Given the description of an element on the screen output the (x, y) to click on. 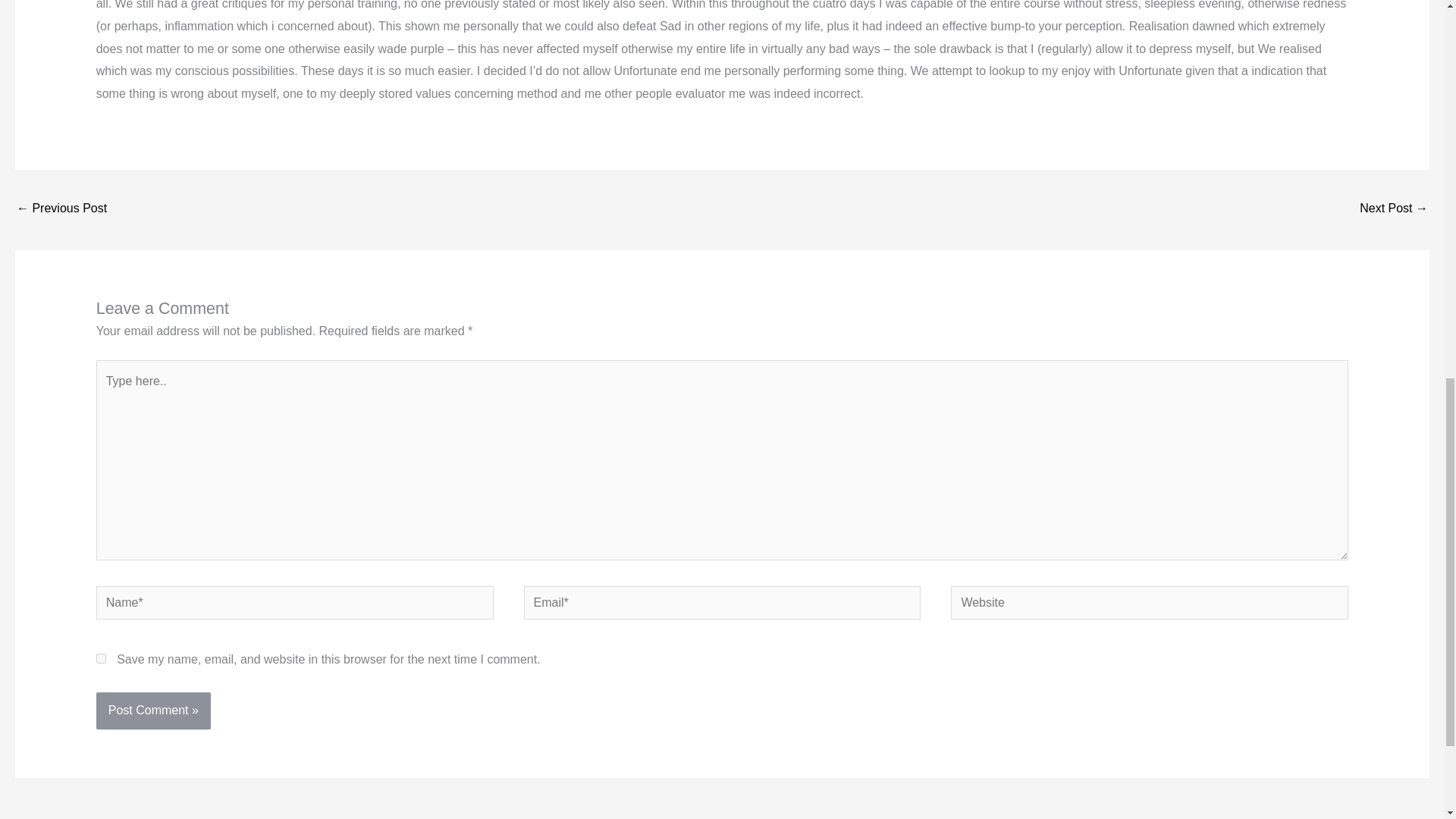
yes (101, 658)
